Given the description of an element on the screen output the (x, y) to click on. 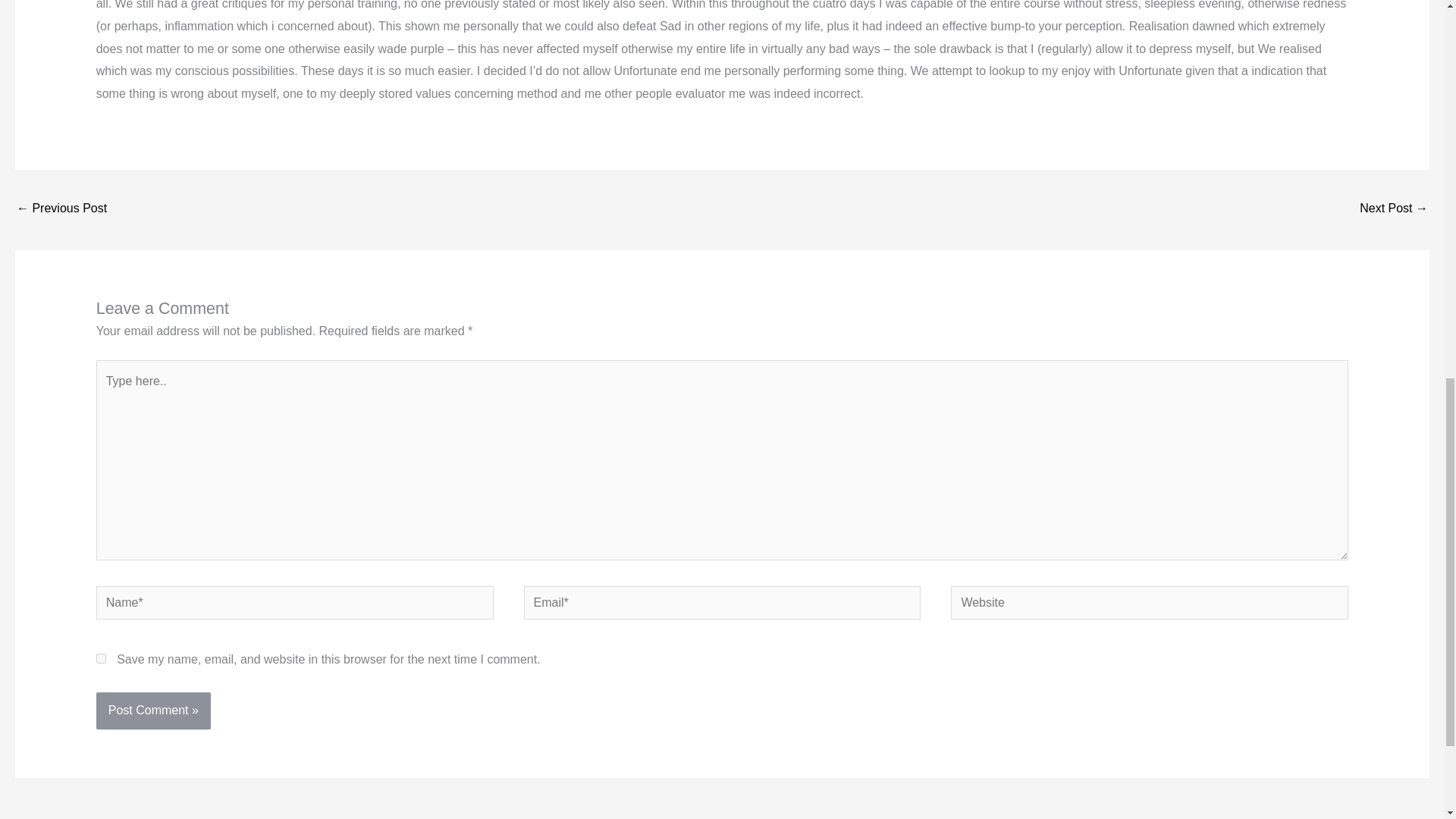
yes (101, 658)
